Given the description of an element on the screen output the (x, y) to click on. 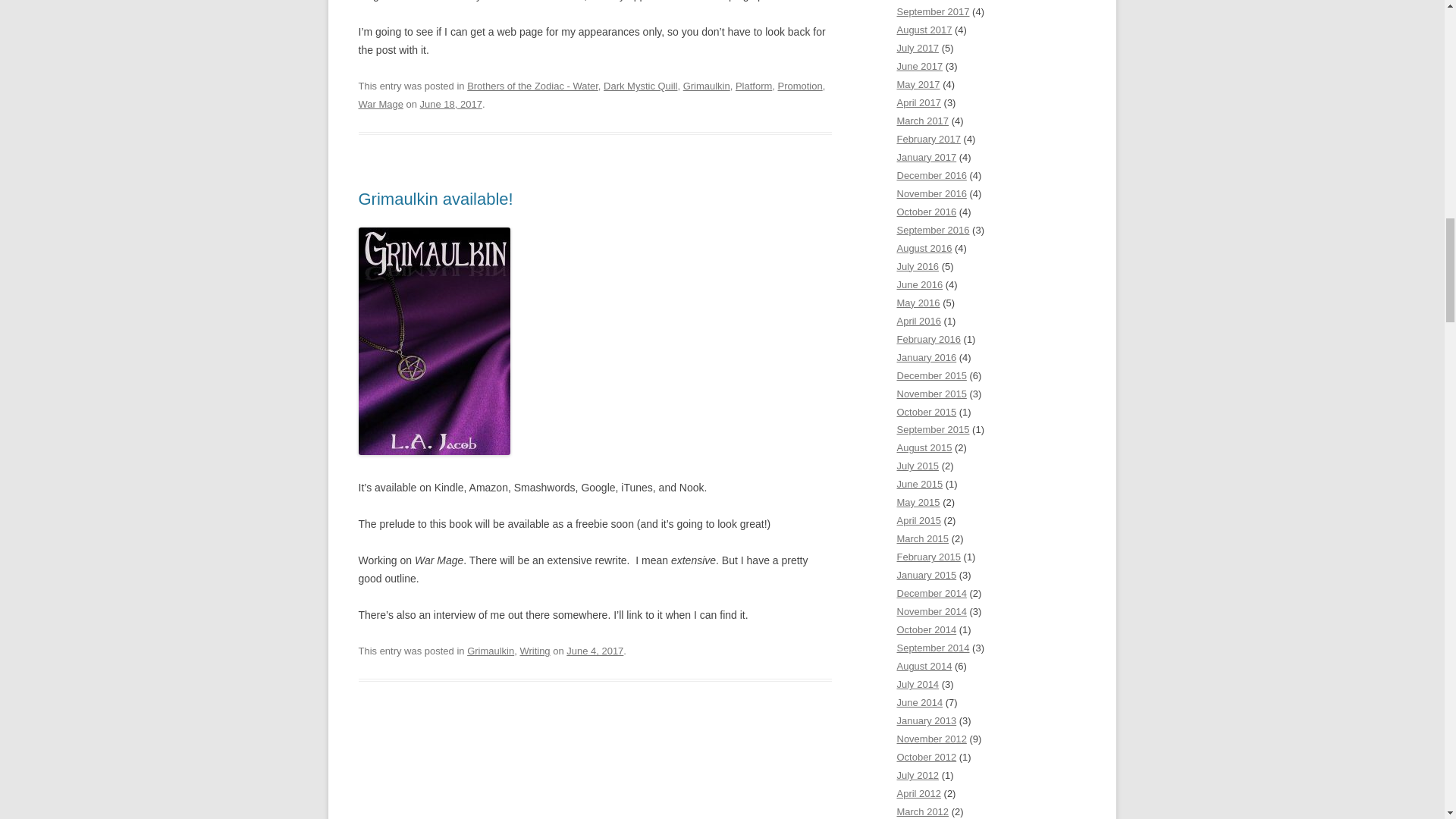
Platform (753, 85)
War Mage (380, 103)
Grimaulkin (490, 650)
Dark Mystic Quill (640, 85)
Writing (534, 650)
Grimaulkin available! (435, 198)
2:40 pm (450, 103)
Brothers of the Zodiac - Water (532, 85)
June 18, 2017 (450, 103)
Grimaulkin (706, 85)
